Given the description of an element on the screen output the (x, y) to click on. 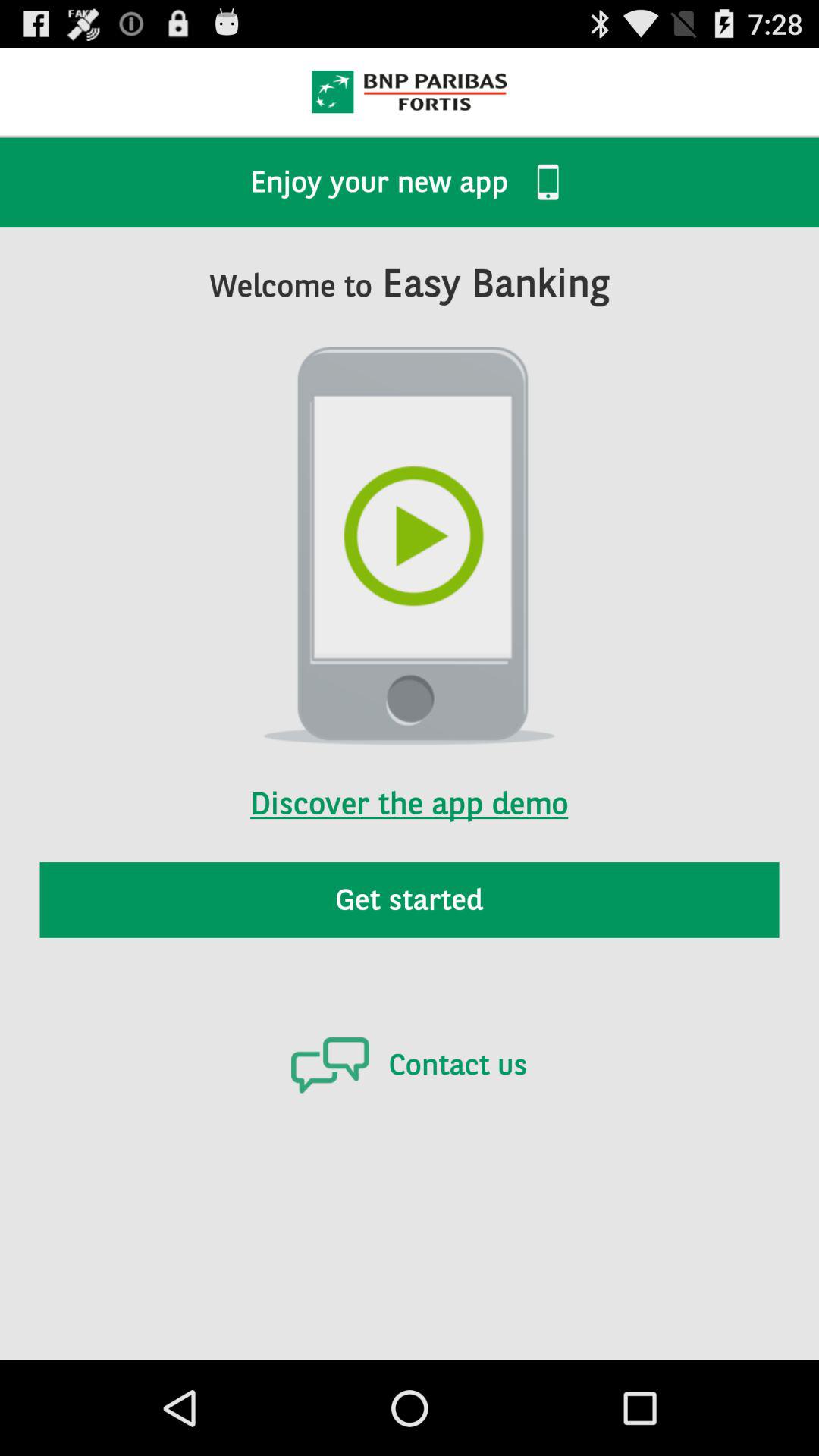
launch the contact us (409, 1065)
